Given the description of an element on the screen output the (x, y) to click on. 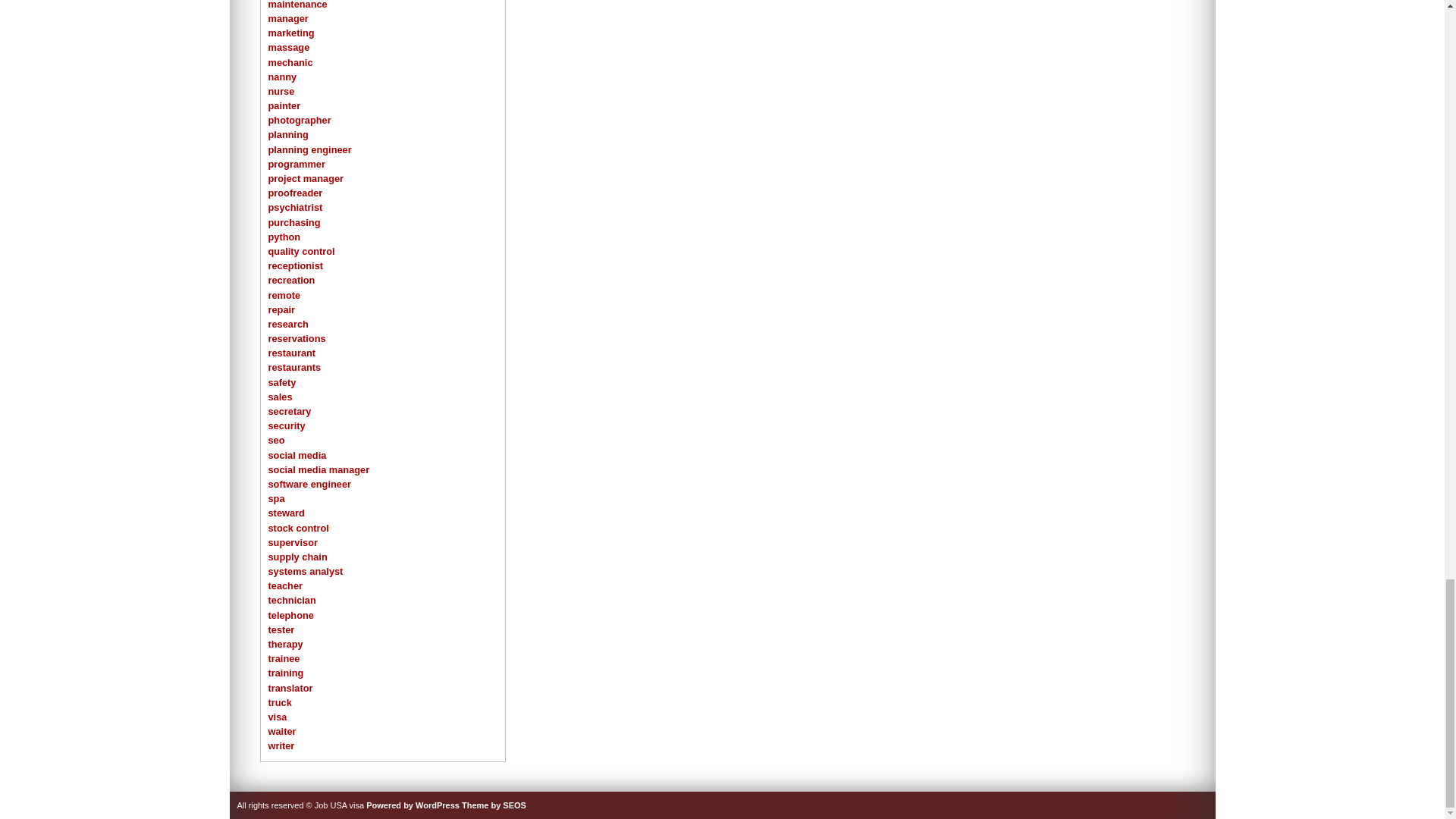
Seos free wordpress themes (493, 804)
